Given the description of an element on the screen output the (x, y) to click on. 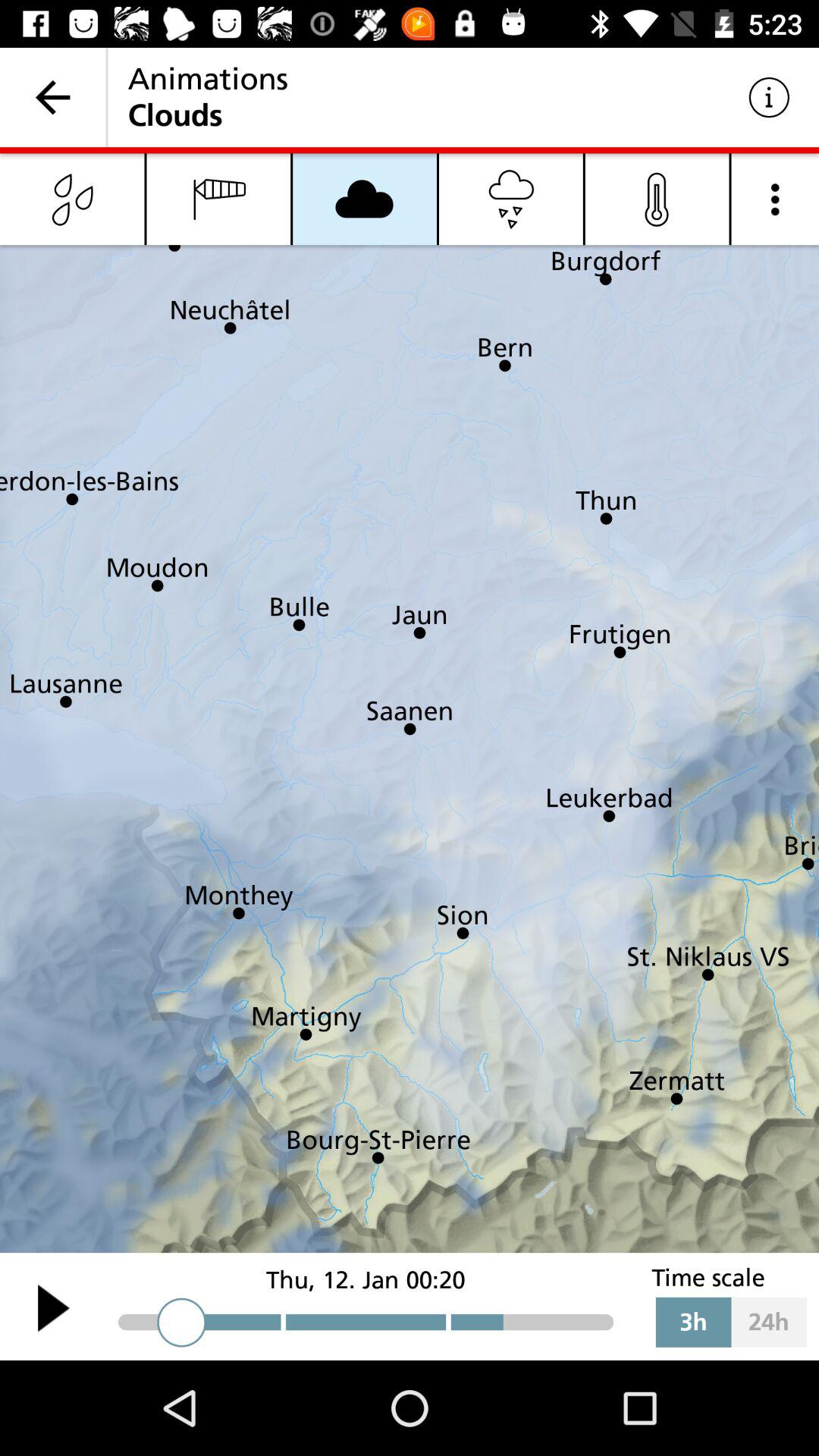
play (53, 1307)
